Given the description of an element on the screen output the (x, y) to click on. 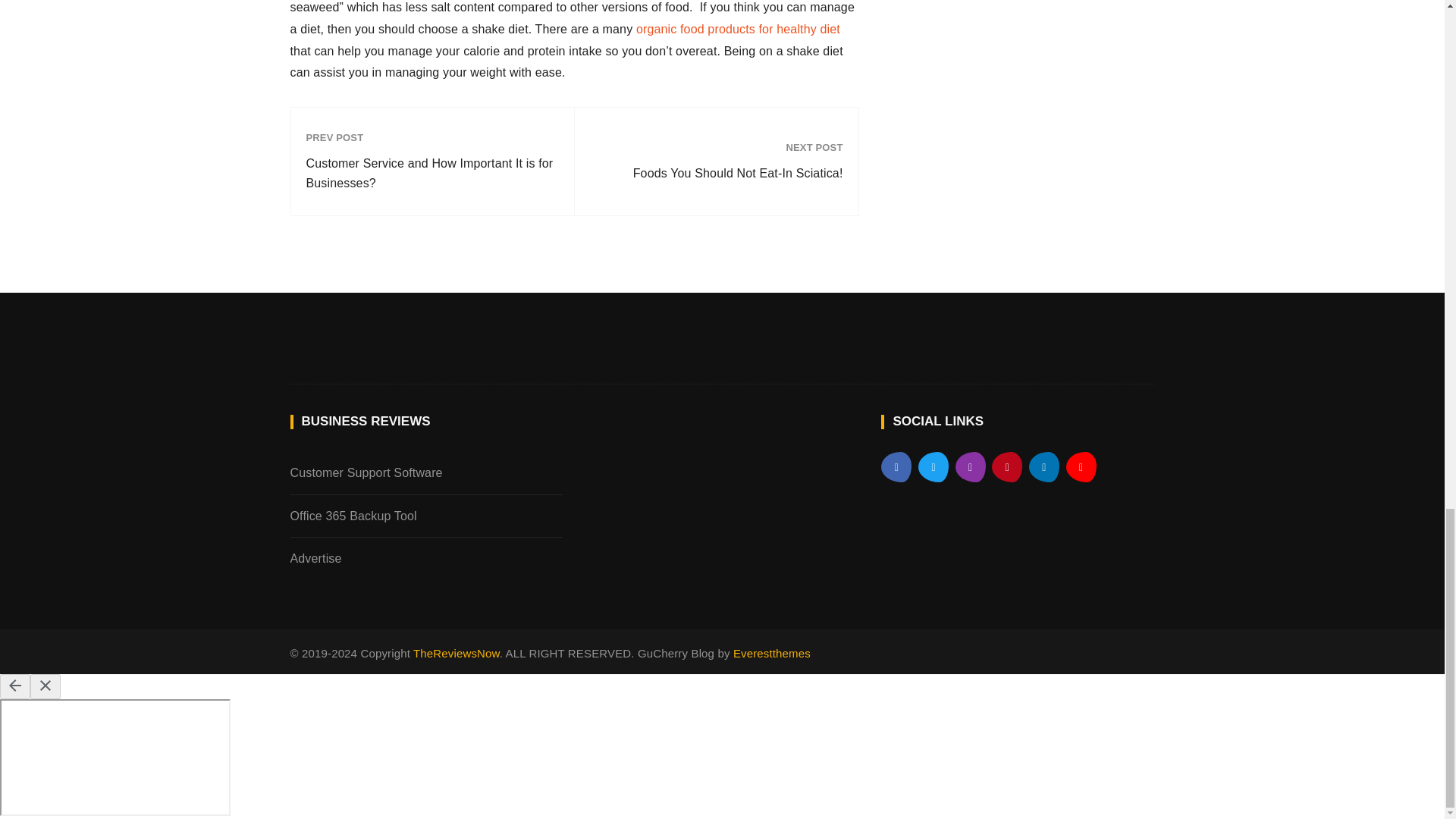
Foods You Should Not Eat-In Sciatica! (716, 173)
organic food products for healthy diet (738, 29)
Customer Service and How Important It is for Businesses? (432, 172)
